Given the description of an element on the screen output the (x, y) to click on. 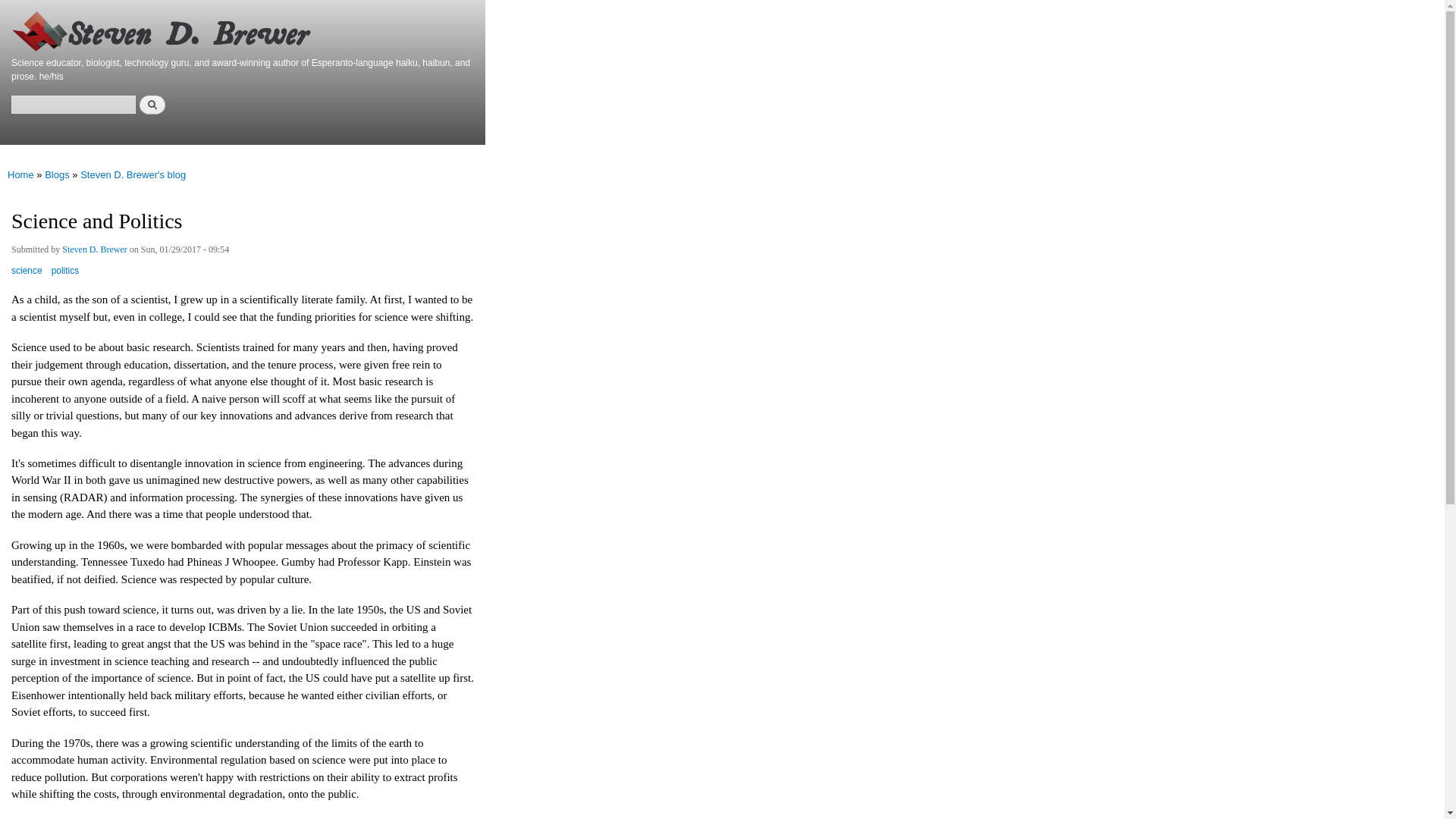
Steven D. Brewer's blog (133, 174)
Search (152, 104)
View user profile. (95, 251)
Enter the terms you wish to search for. (73, 104)
Steven D. Brewer (95, 251)
Home (20, 174)
science (26, 276)
politics (65, 276)
Search (152, 104)
